Given the description of an element on the screen output the (x, y) to click on. 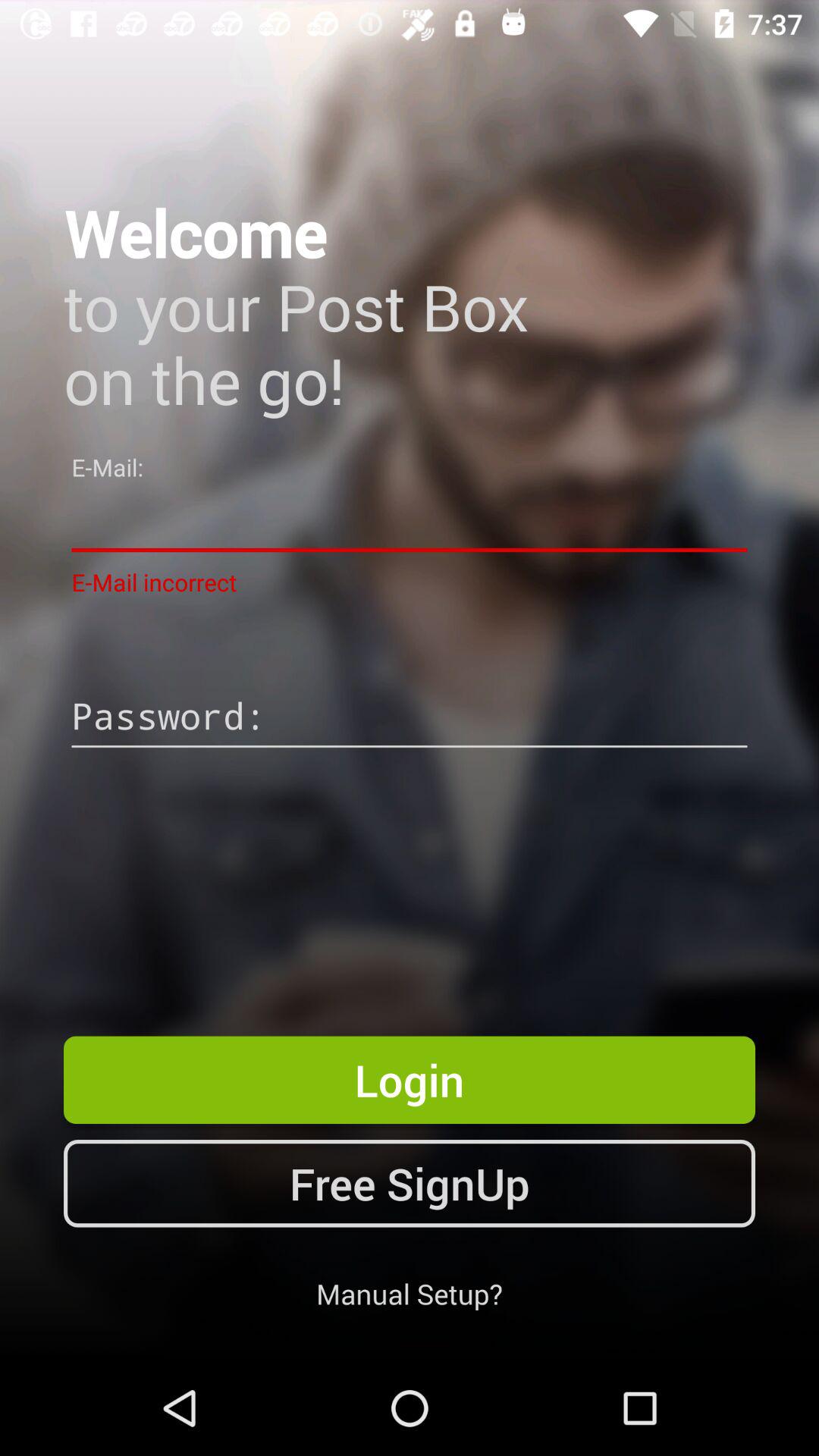
password (409, 718)
